Given the description of an element on the screen output the (x, y) to click on. 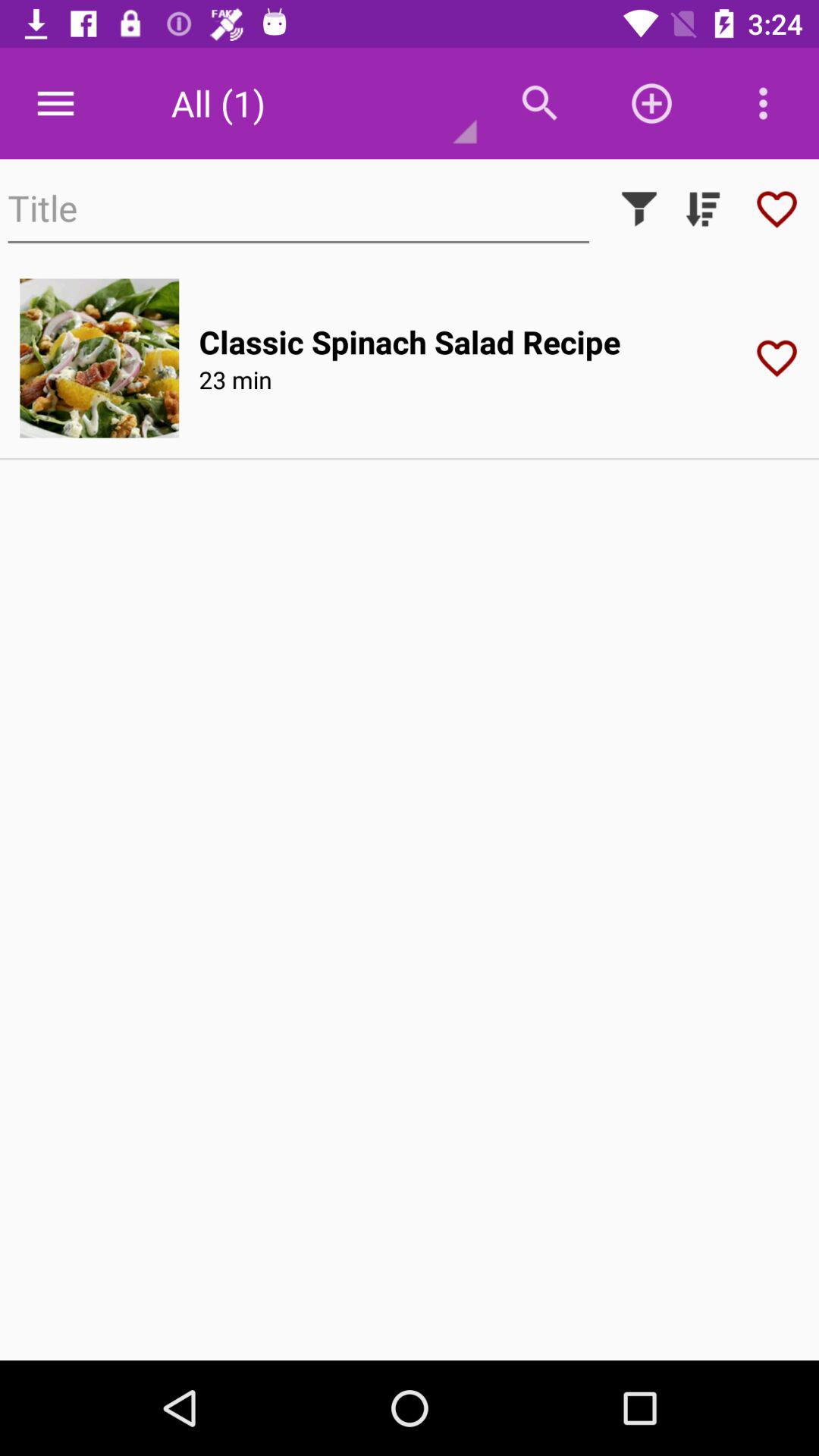
put a recipe into favorite list (782, 357)
